Given the description of an element on the screen output the (x, y) to click on. 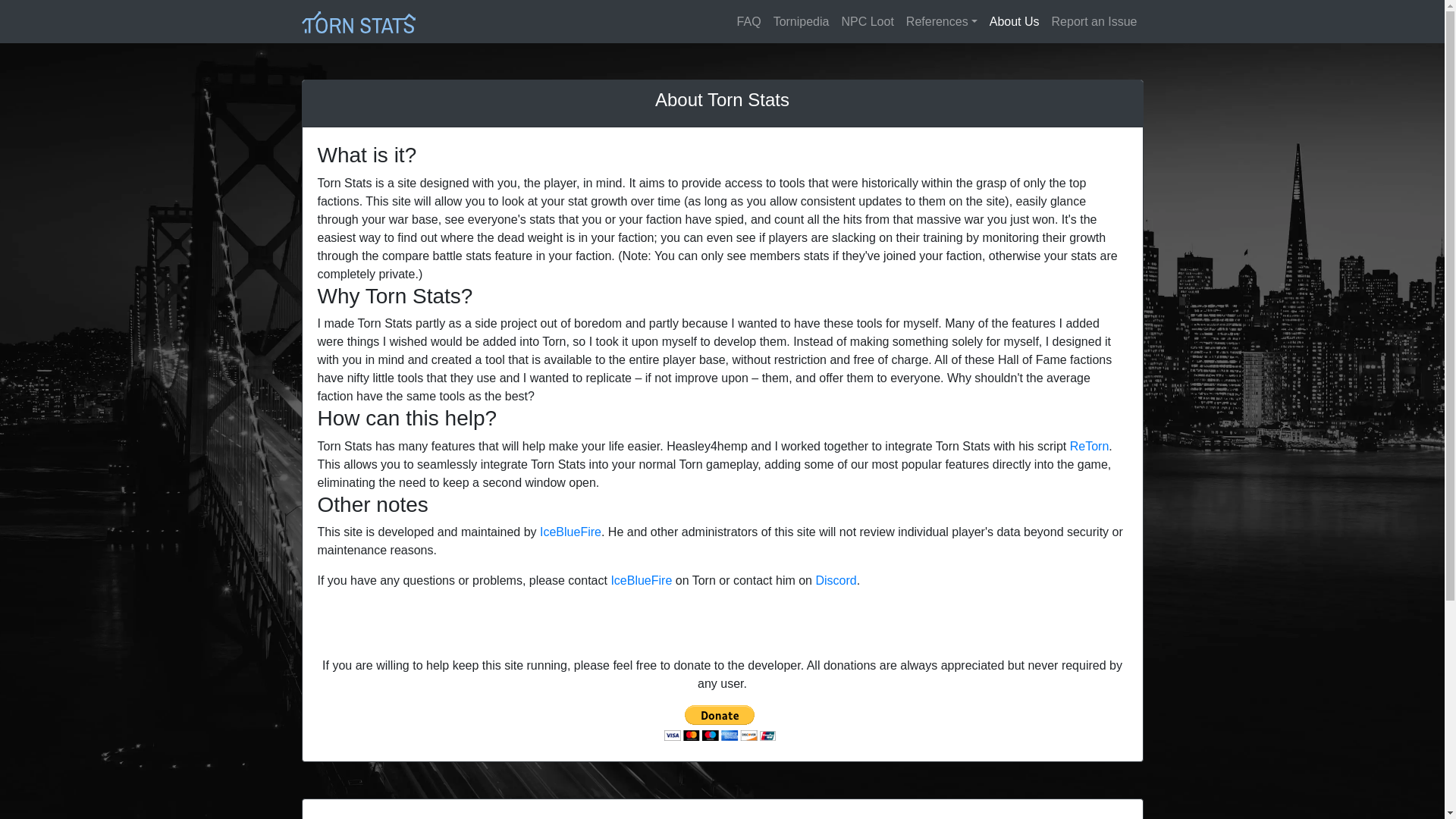
Discord (835, 580)
FAQ (748, 21)
IceBlueFire (570, 531)
Tornipedia (801, 21)
Advertise Here (1094, 818)
View All Banners (1018, 818)
References (941, 21)
Report an Issue (1093, 21)
ReTorn (1089, 445)
IceBlueFire (640, 580)
